Given the description of an element on the screen output the (x, y) to click on. 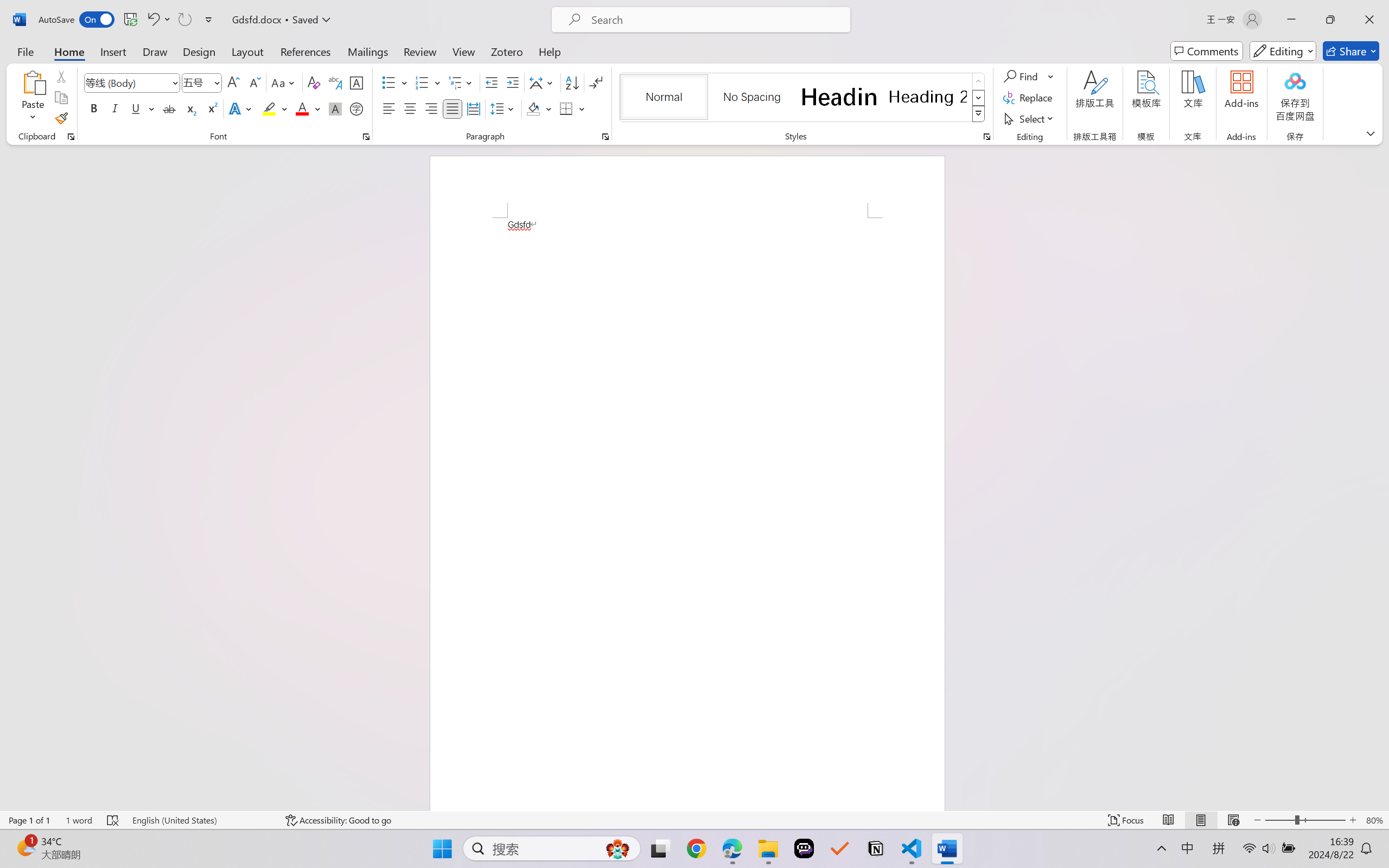
Class: MsoCommandBar (694, 819)
